Given the description of an element on the screen output the (x, y) to click on. 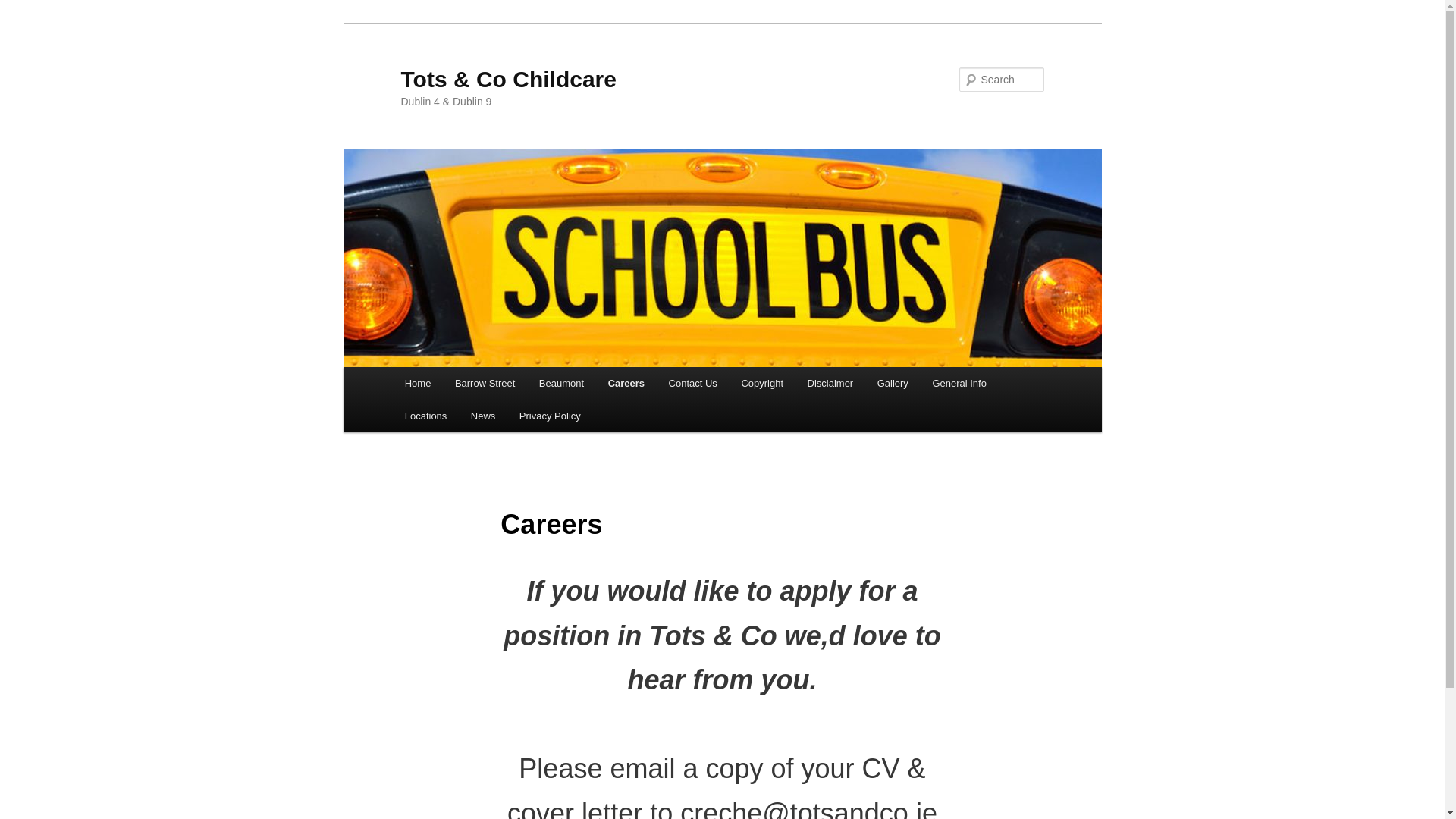
Contact Us (692, 382)
Copyright (761, 382)
Barrow Street (484, 382)
Search (24, 8)
Locations (425, 415)
General Info (959, 382)
Beaumont (561, 382)
News (482, 415)
Careers (625, 382)
